Given the description of an element on the screen output the (x, y) to click on. 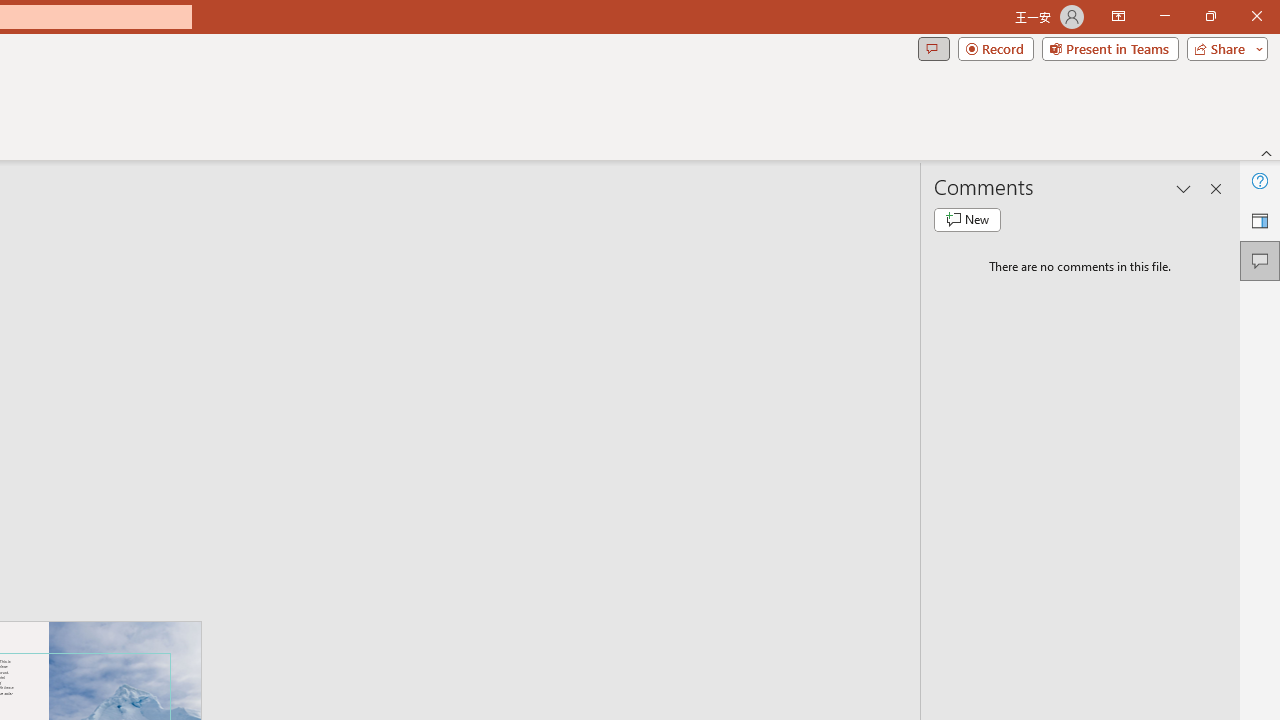
Feedback to Microsoft (1260, 220)
